Given the description of an element on the screen output the (x, y) to click on. 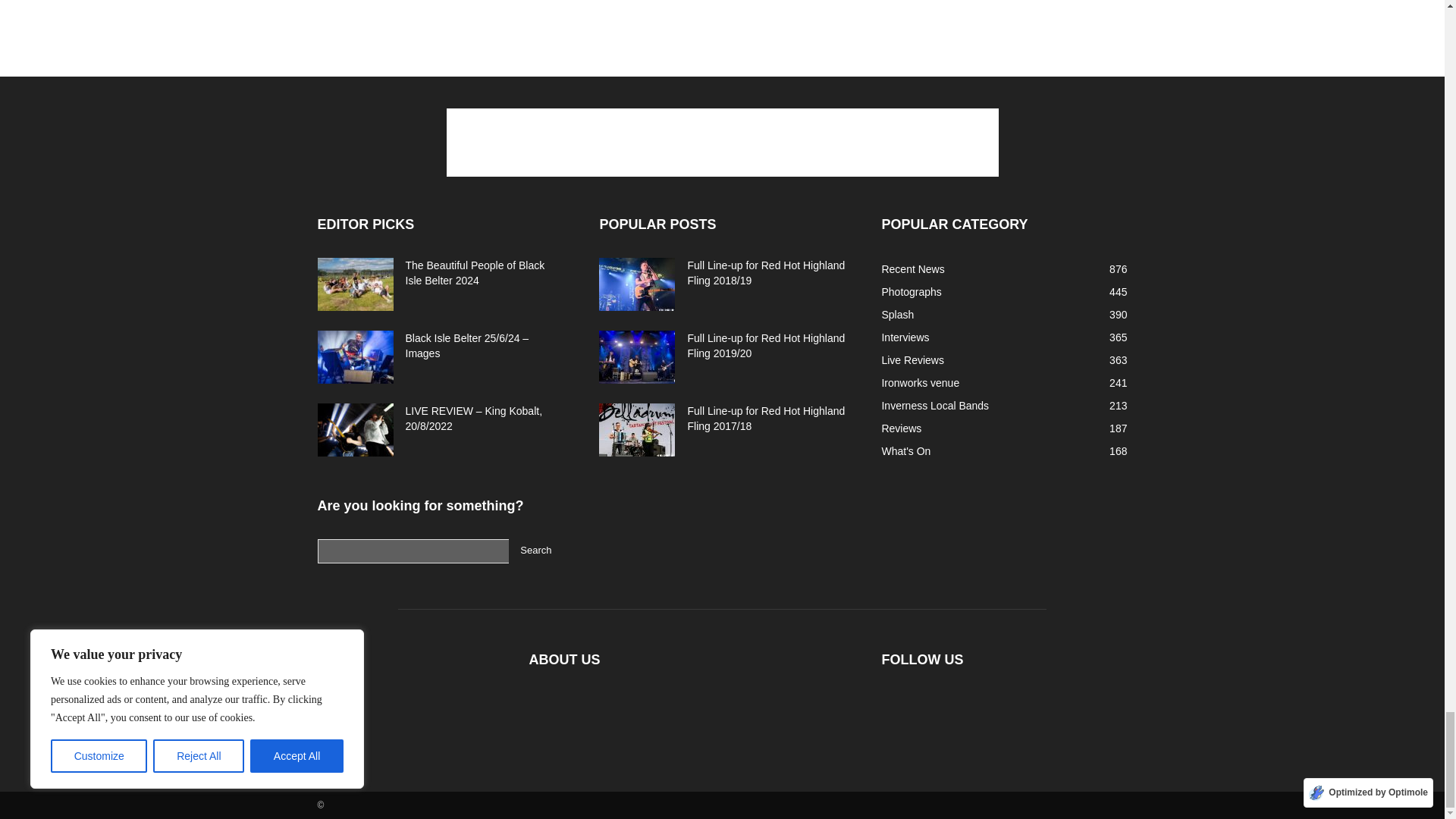
Search (535, 550)
